Given the description of an element on the screen output the (x, y) to click on. 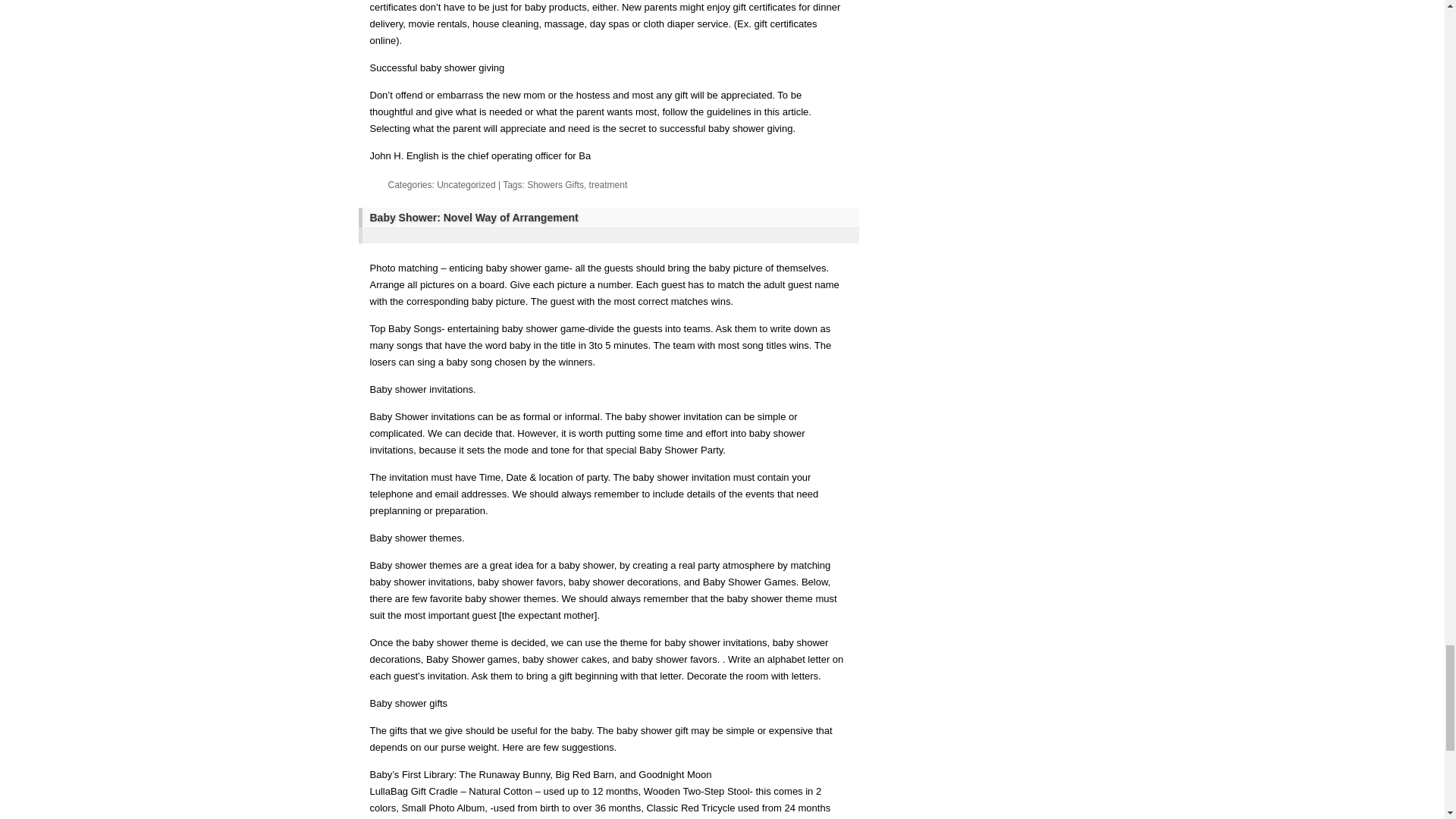
Baby Shower: Novel Way of Arrangement (610, 217)
Uncategorized (465, 184)
treatment (608, 184)
Showers Gifts (555, 184)
View all posts in Uncategorized (465, 184)
